Given the description of an element on the screen output the (x, y) to click on. 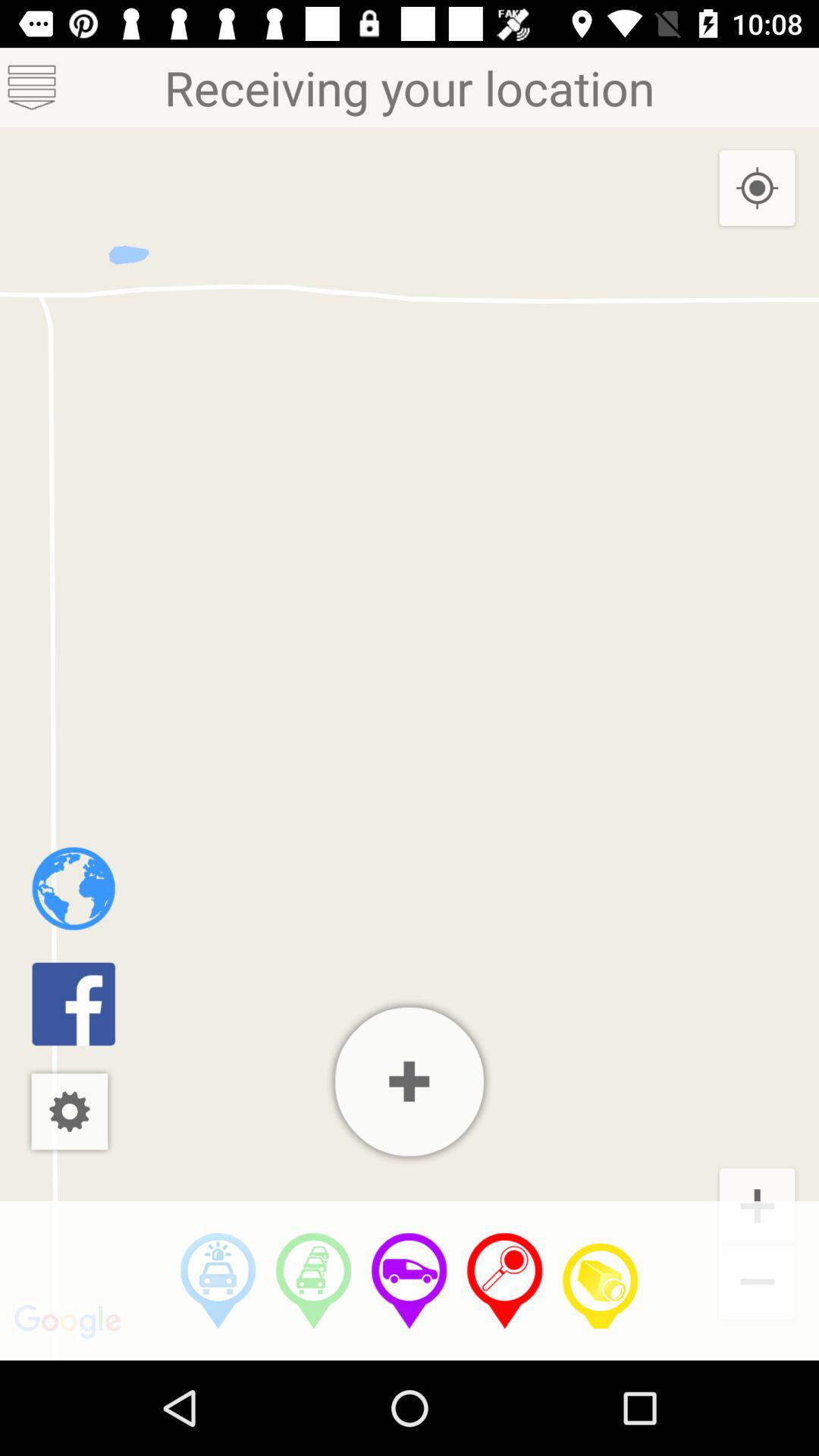
launch the icon at the top right corner (757, 188)
